Given the description of an element on the screen output the (x, y) to click on. 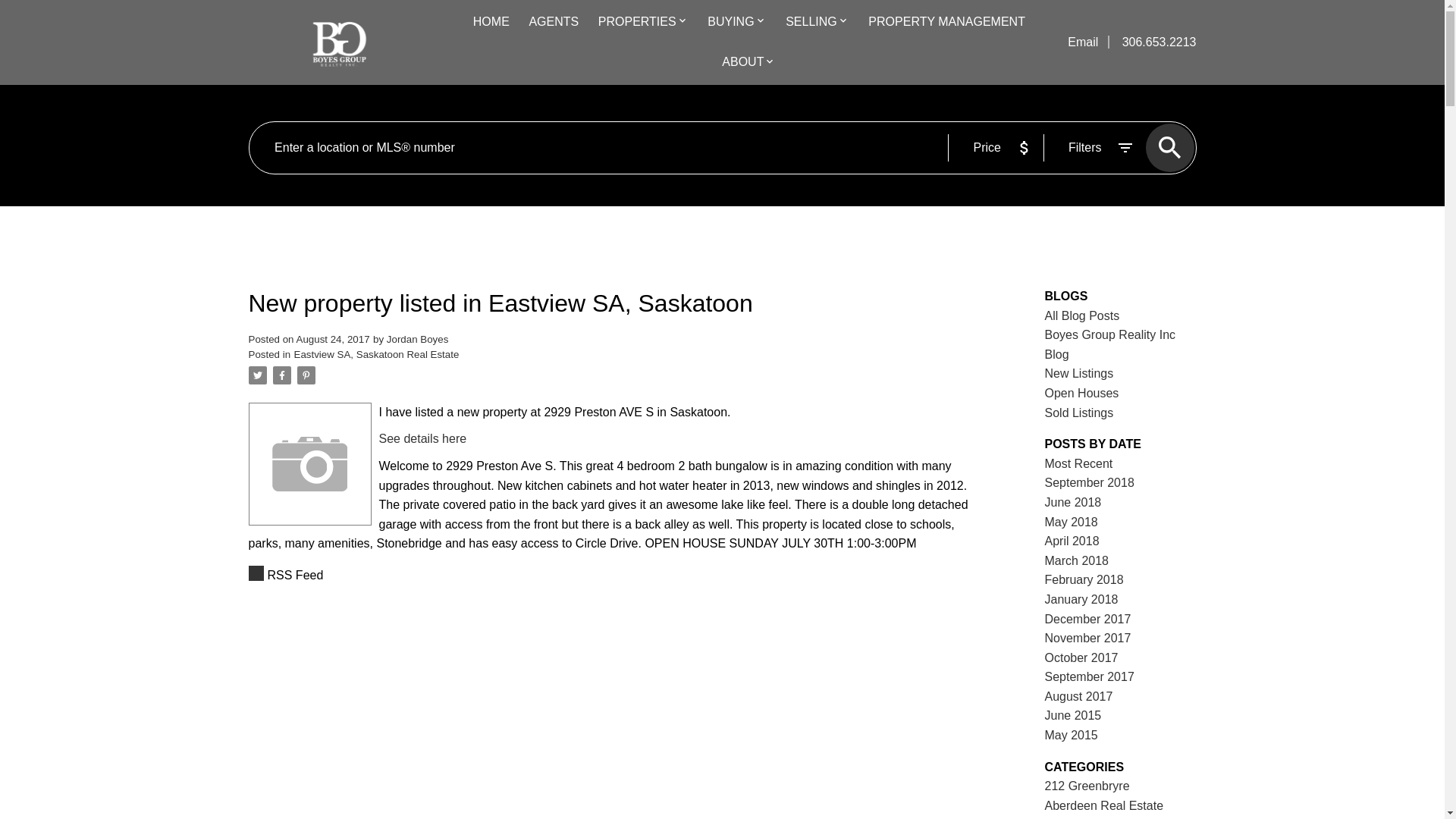
SELLING (811, 22)
HOME (491, 22)
BUYING (730, 22)
PROPERTY MANAGEMENT (946, 22)
PROPERTIES (637, 22)
AGENTS (553, 22)
Email (1083, 42)
  306.653.2213 (1152, 42)
ABOUT (742, 62)
